Given the description of an element on the screen output the (x, y) to click on. 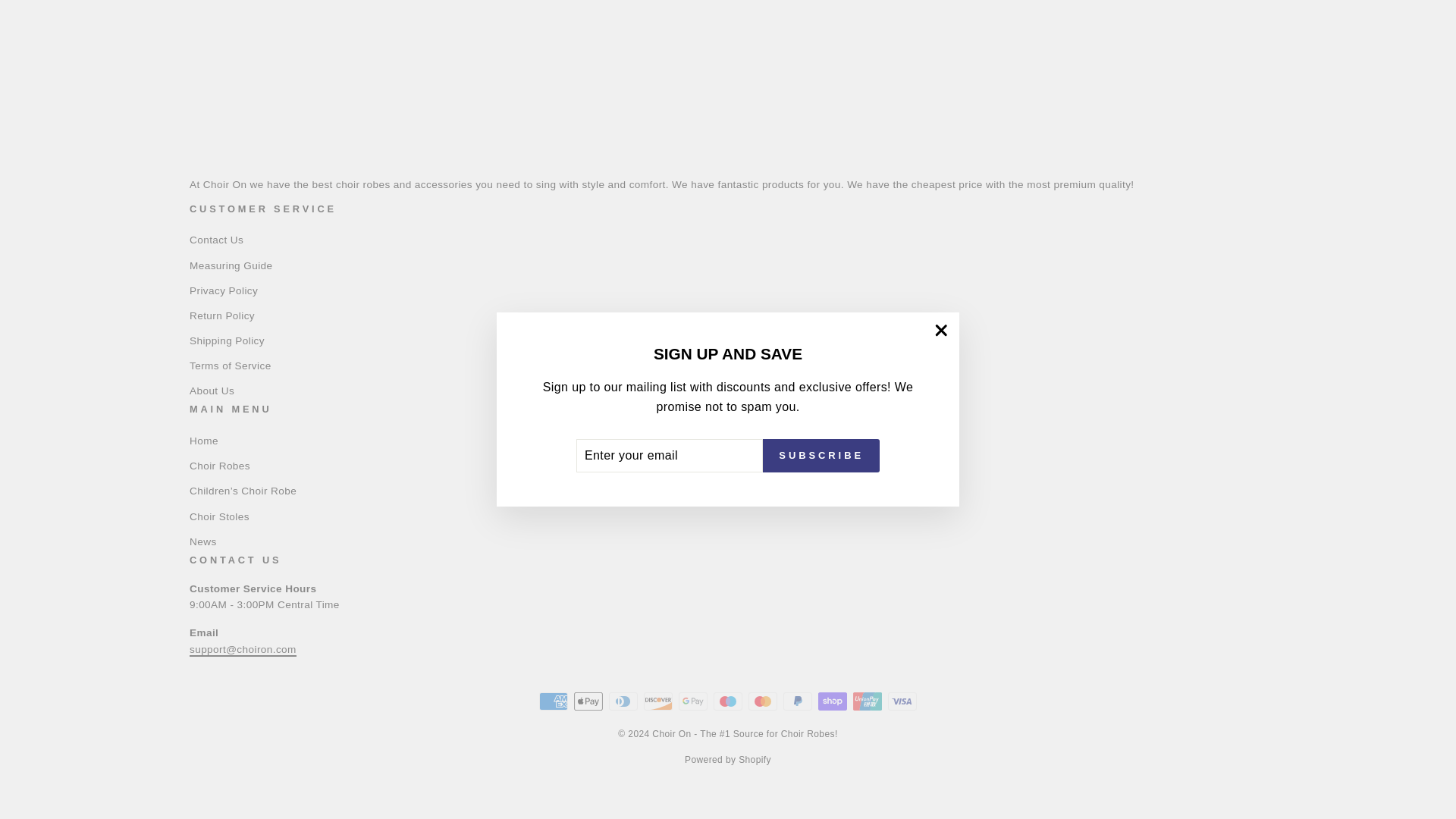
American Express (552, 701)
Union Pay (867, 701)
Mastercard (762, 701)
Discover (657, 701)
Apple Pay (587, 701)
PayPal (797, 701)
Shop Pay (832, 701)
Google Pay (692, 701)
Diners Club (622, 701)
Maestro (727, 701)
